Given the description of an element on the screen output the (x, y) to click on. 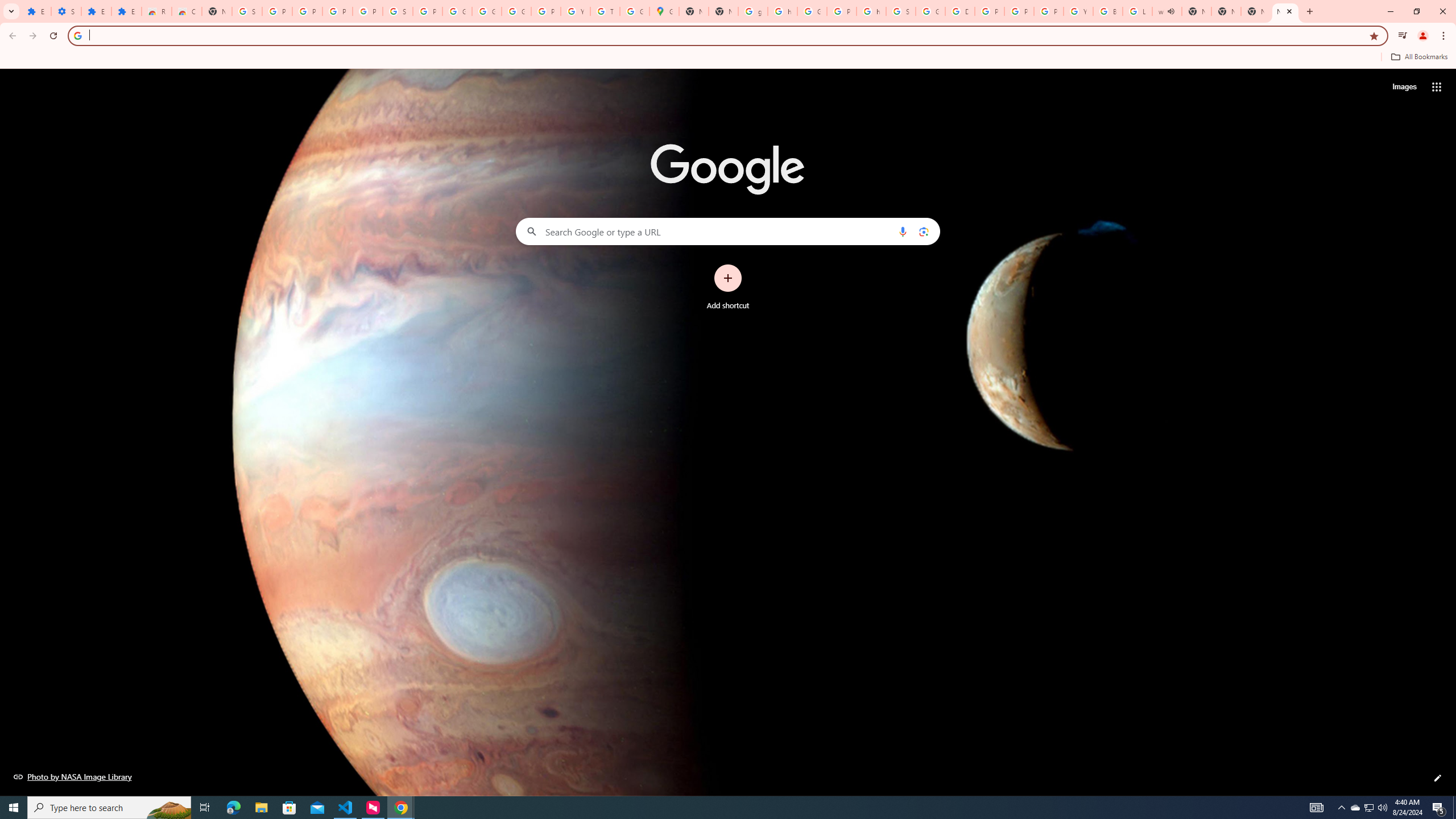
New Tab (1284, 11)
Sign in - Google Accounts (900, 11)
Google Account (456, 11)
New Tab (216, 11)
